Given the description of an element on the screen output the (x, y) to click on. 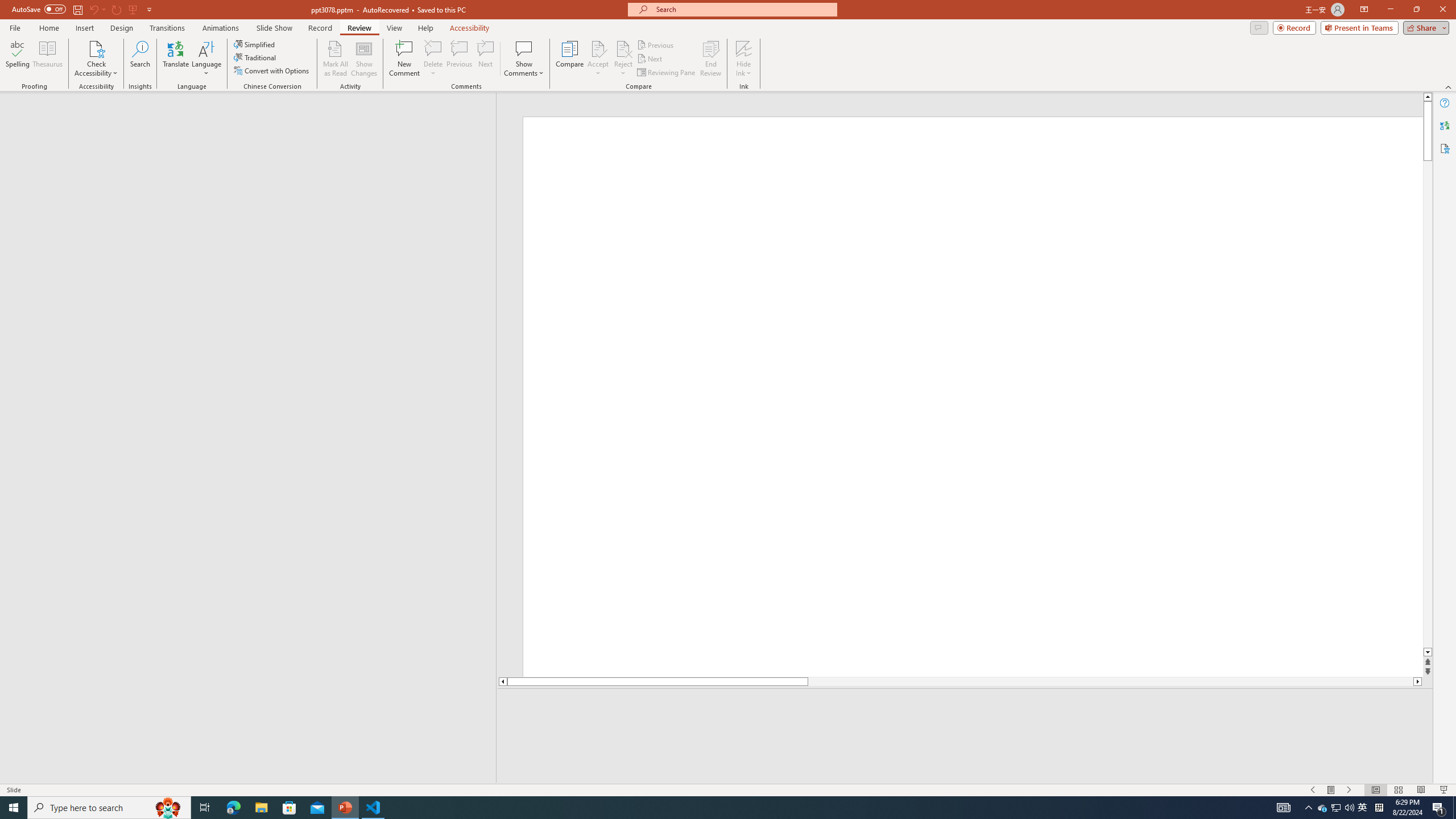
New Comment (403, 58)
Show Comments (524, 58)
